Given the description of an element on the screen output the (x, y) to click on. 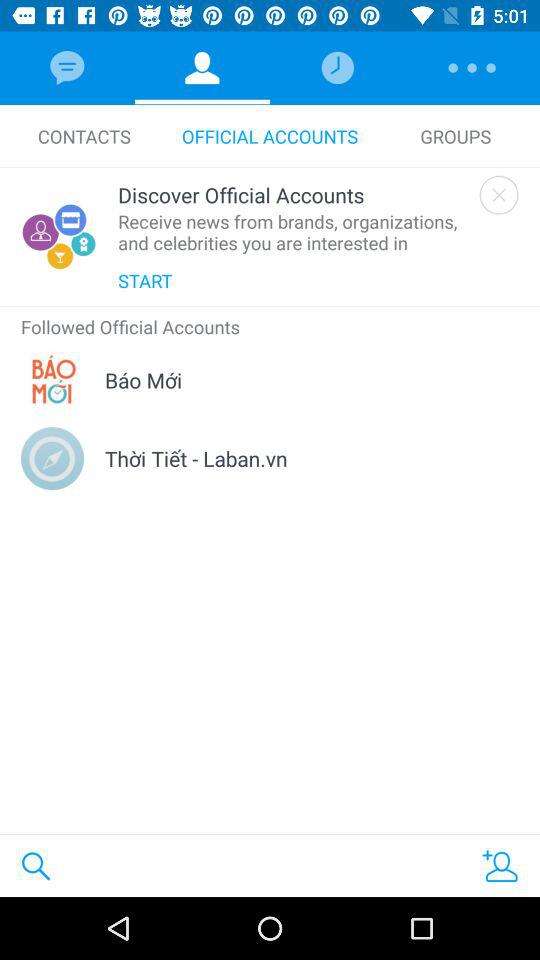
click the icon above the discover official accounts item (84, 136)
